Given the description of an element on the screen output the (x, y) to click on. 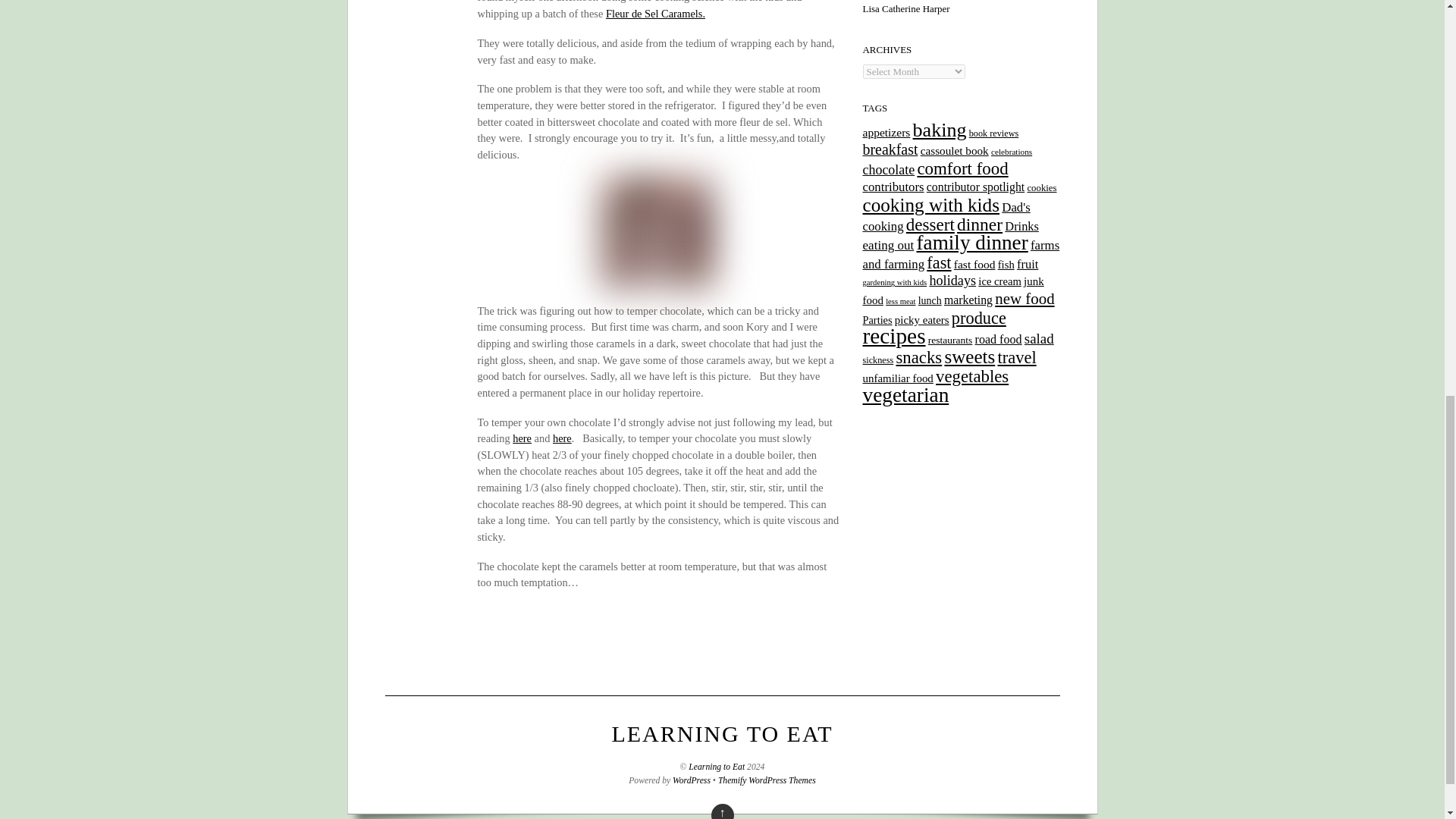
Fleur de Sel Caramels. (654, 13)
appetizers (887, 132)
breakfast (890, 149)
baking (939, 129)
chocolate (889, 169)
Learning to Eat (721, 733)
celebrations (1011, 151)
cassoulet book (954, 150)
Lisa Catherine Harper (906, 8)
Lisa Catherine Harper (906, 8)
